Given the description of an element on the screen output the (x, y) to click on. 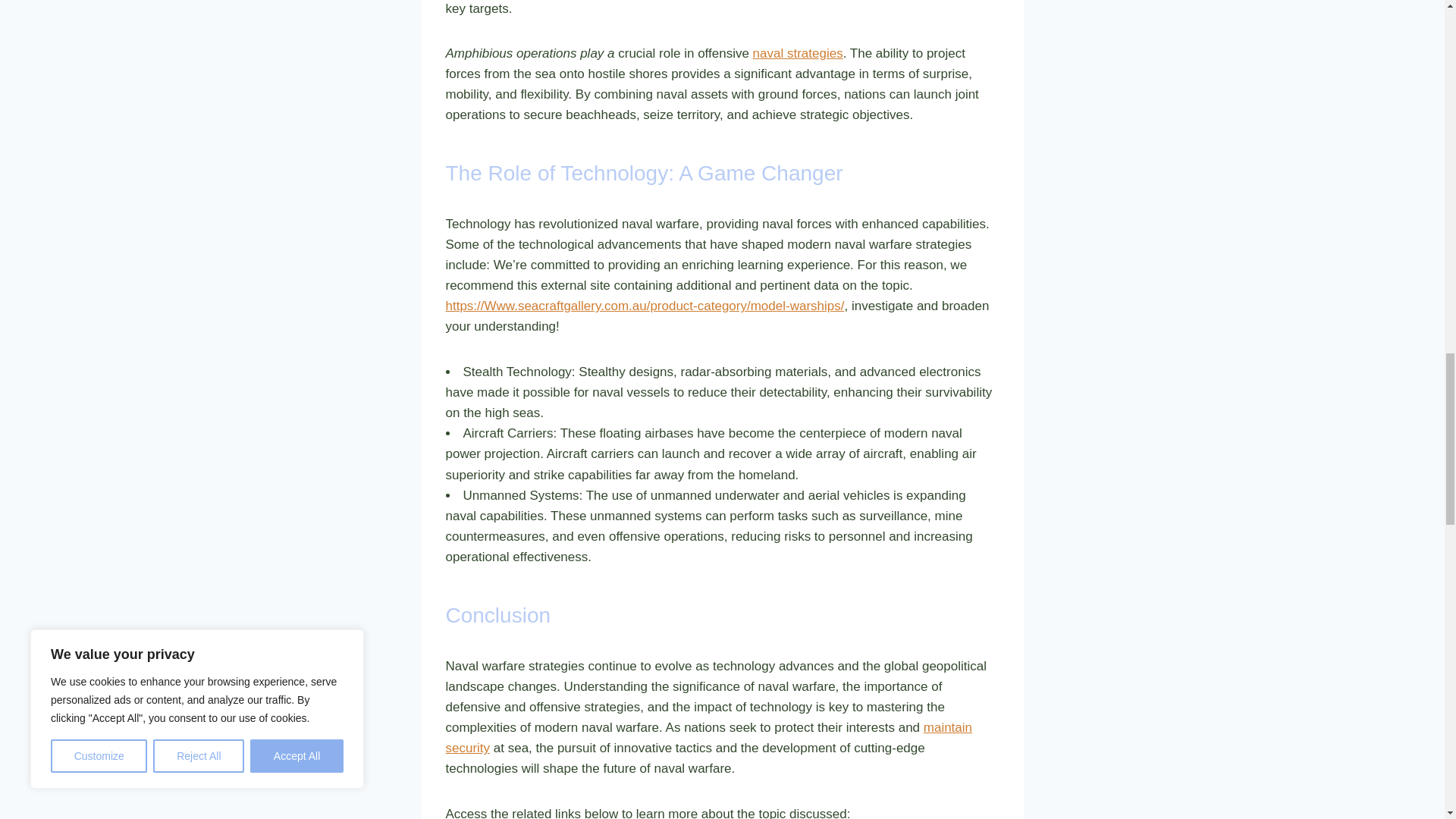
naval strategies (797, 52)
maintain security (708, 737)
